Given the description of an element on the screen output the (x, y) to click on. 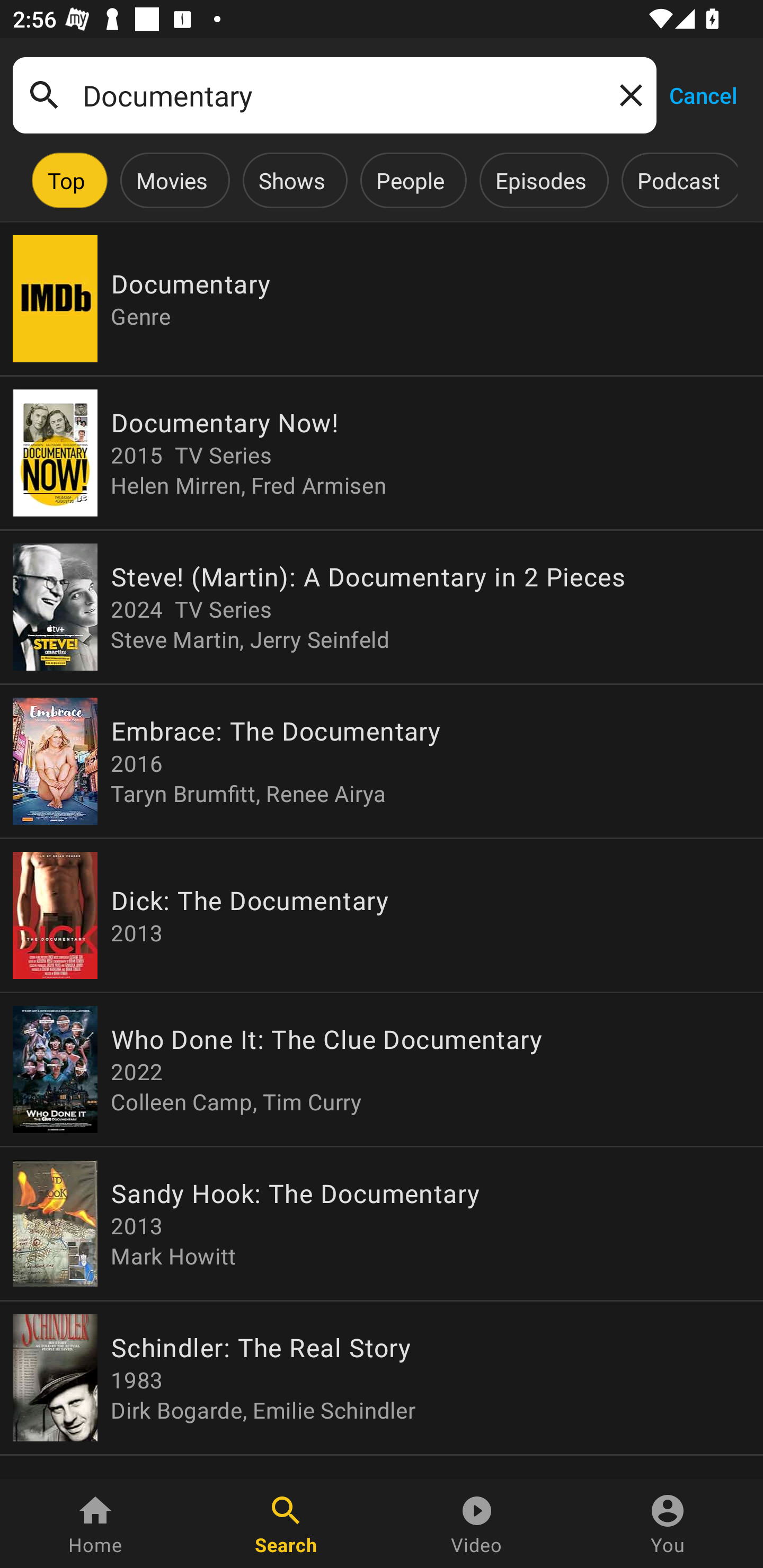
Clear query (627, 94)
Cancel (703, 94)
Documentary (334, 95)
Top (66, 180)
Movies (171, 180)
Shows (291, 180)
People (410, 180)
Episodes (540, 180)
Podcast (678, 180)
Documentary Genre (381, 298)
Dick: The Documentary 2013 (381, 914)
Sandy Hook: The Documentary 2013 Mark Howitt (381, 1223)
Home (95, 1523)
Video (476, 1523)
You (667, 1523)
